Given the description of an element on the screen output the (x, y) to click on. 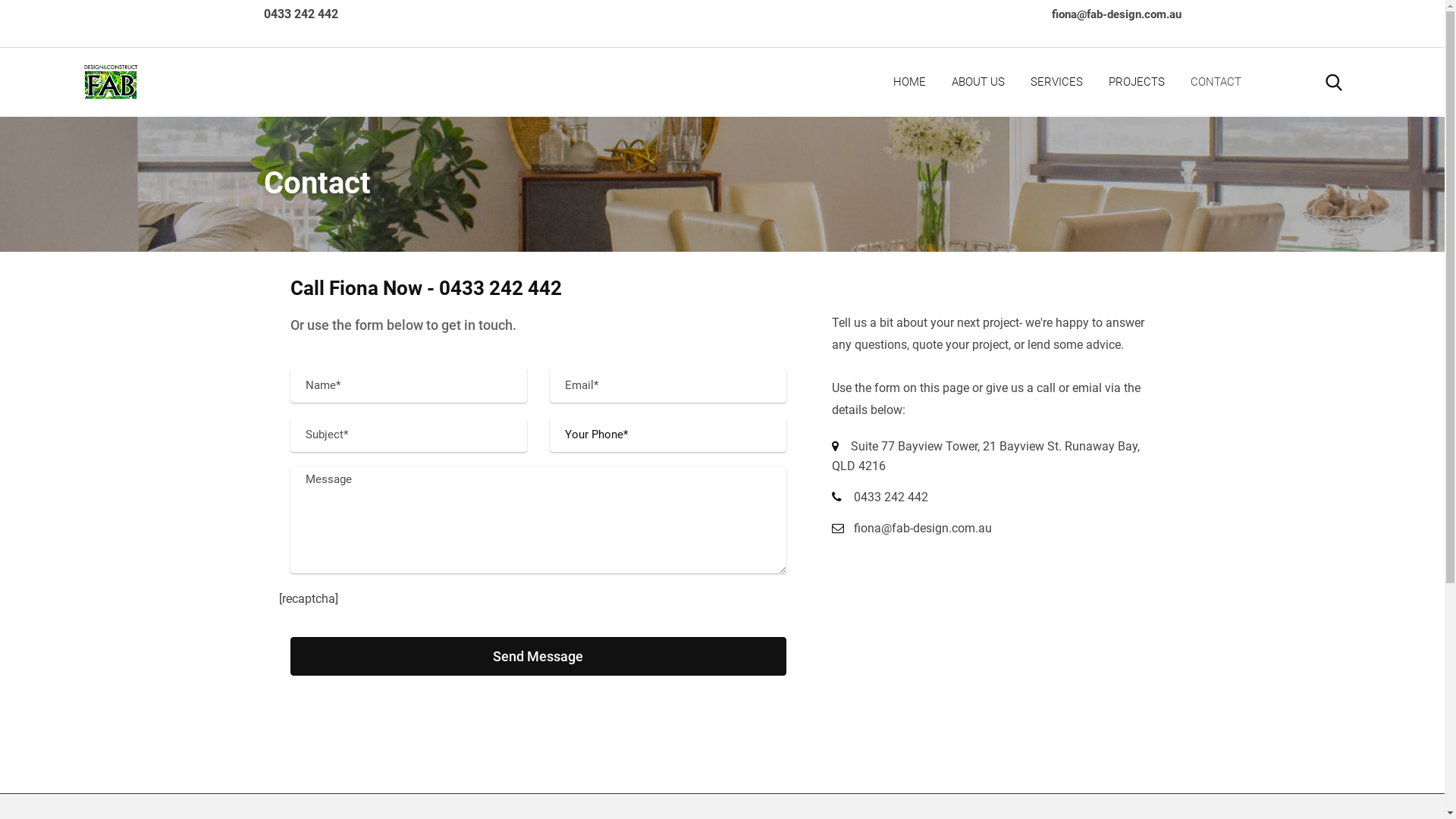
HOME Element type: text (909, 81)
SERVICES Element type: text (1056, 81)
PROJECTS Element type: text (1136, 81)
CONTACT Element type: text (1215, 81)
0433 242 442 Element type: text (300, 13)
ABOUT US Element type: text (978, 81)
Search Element type: hover (1333, 81)
fiona@fab-design.com.au Element type: text (1115, 14)
0433 242 442 Element type: text (890, 496)
Send Message Element type: text (537, 656)
fiona@fab-design.com.au Element type: text (922, 527)
